Given the description of an element on the screen output the (x, y) to click on. 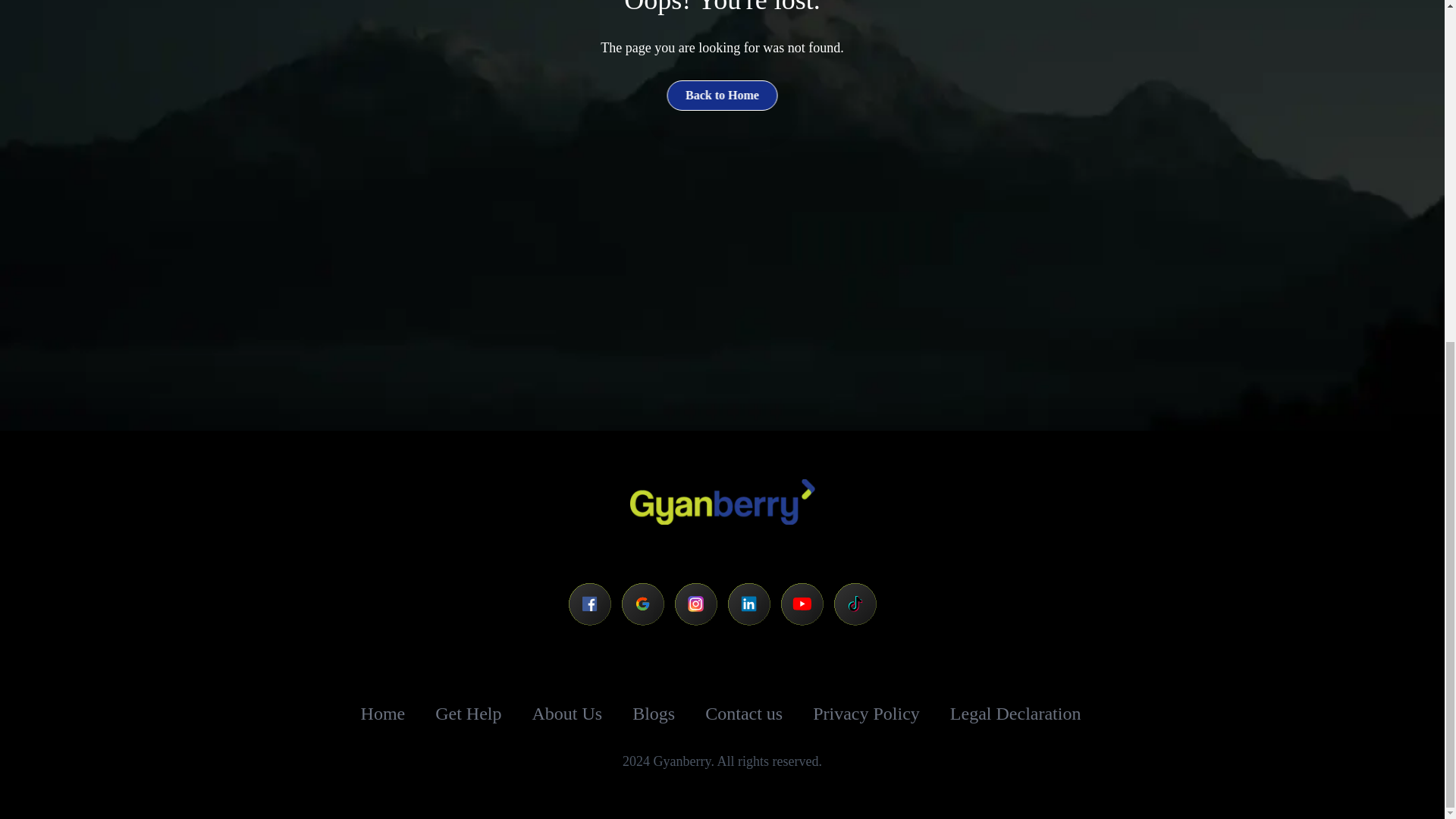
Privacy Policy (866, 713)
Contact us (743, 713)
Get Help (467, 713)
Legal Declaration (1015, 713)
Home (383, 713)
About Us (567, 713)
Back to Home (721, 95)
Blogs (653, 713)
